Given the description of an element on the screen output the (x, y) to click on. 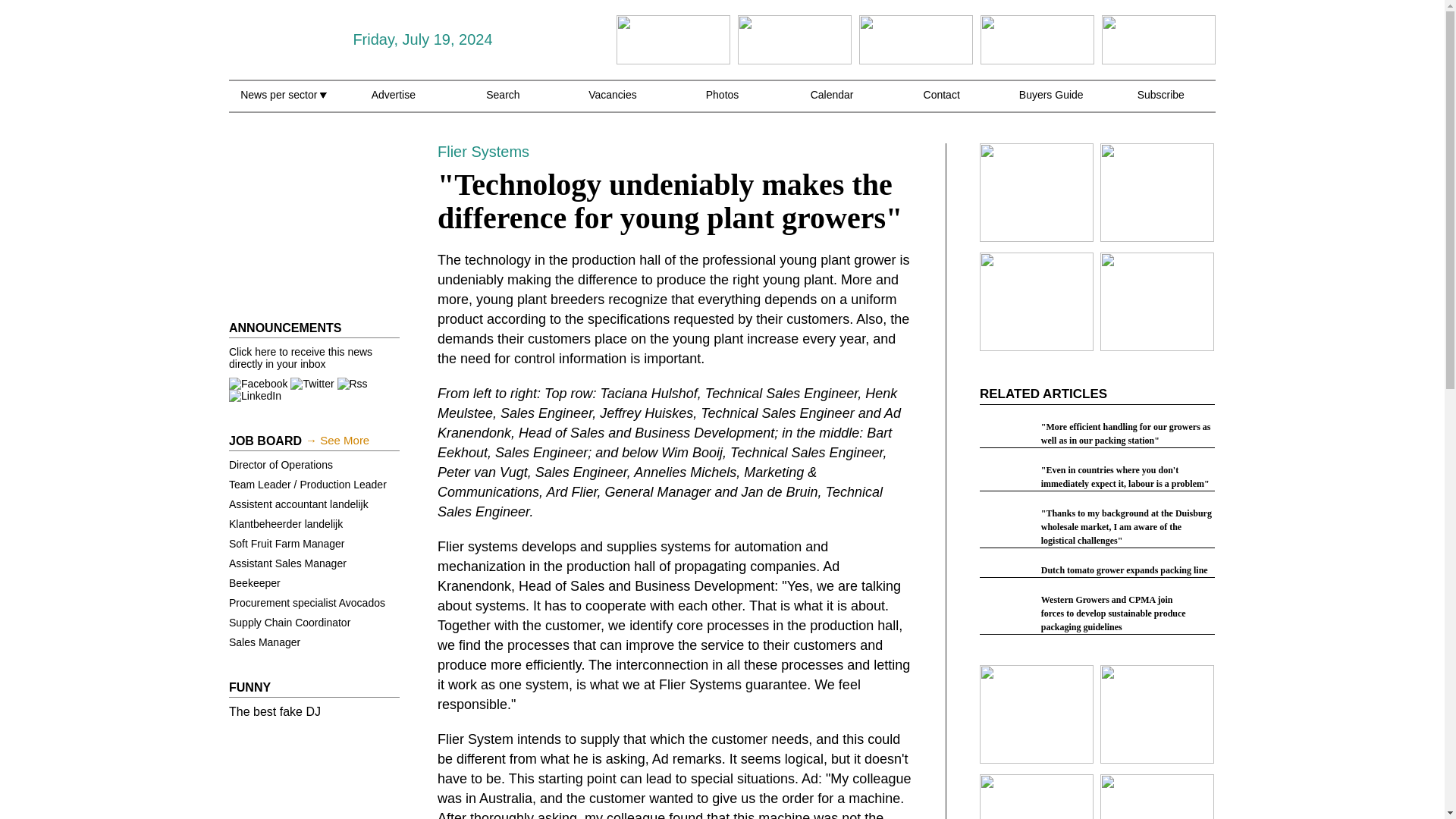
News per sector (283, 103)
Advertise (392, 103)
